Given the description of an element on the screen output the (x, y) to click on. 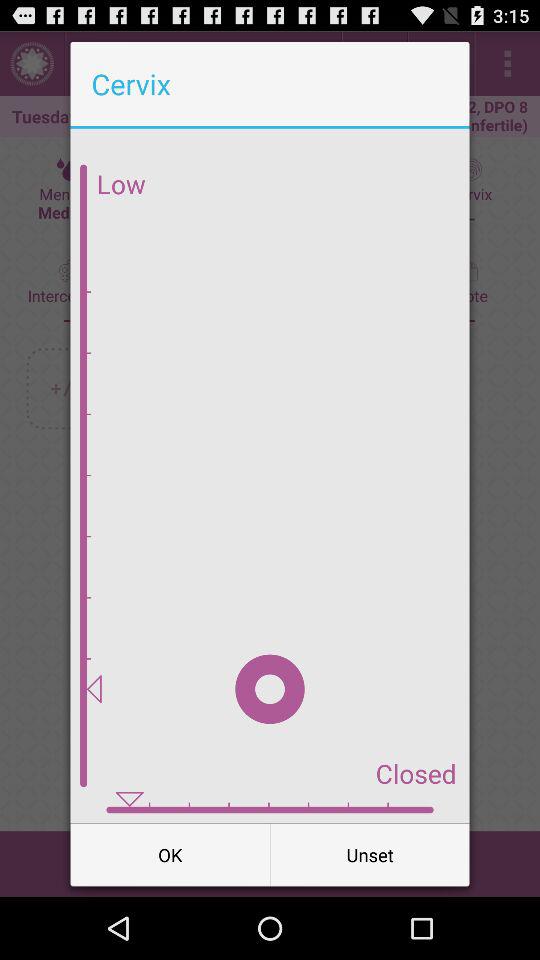
turn on button at the bottom left corner (170, 854)
